Given the description of an element on the screen output the (x, y) to click on. 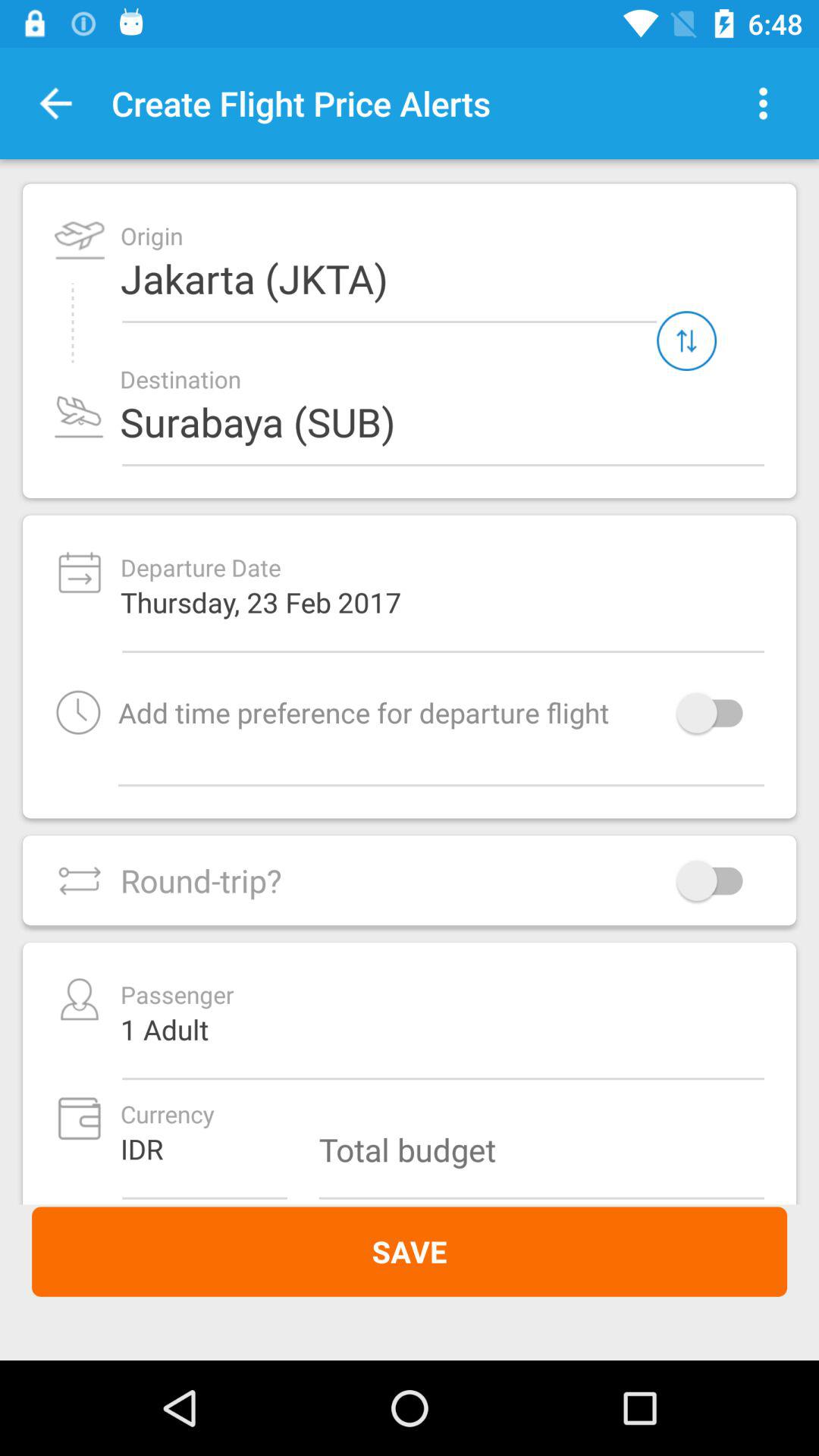
select the item next to create flight price item (763, 103)
